Given the description of an element on the screen output the (x, y) to click on. 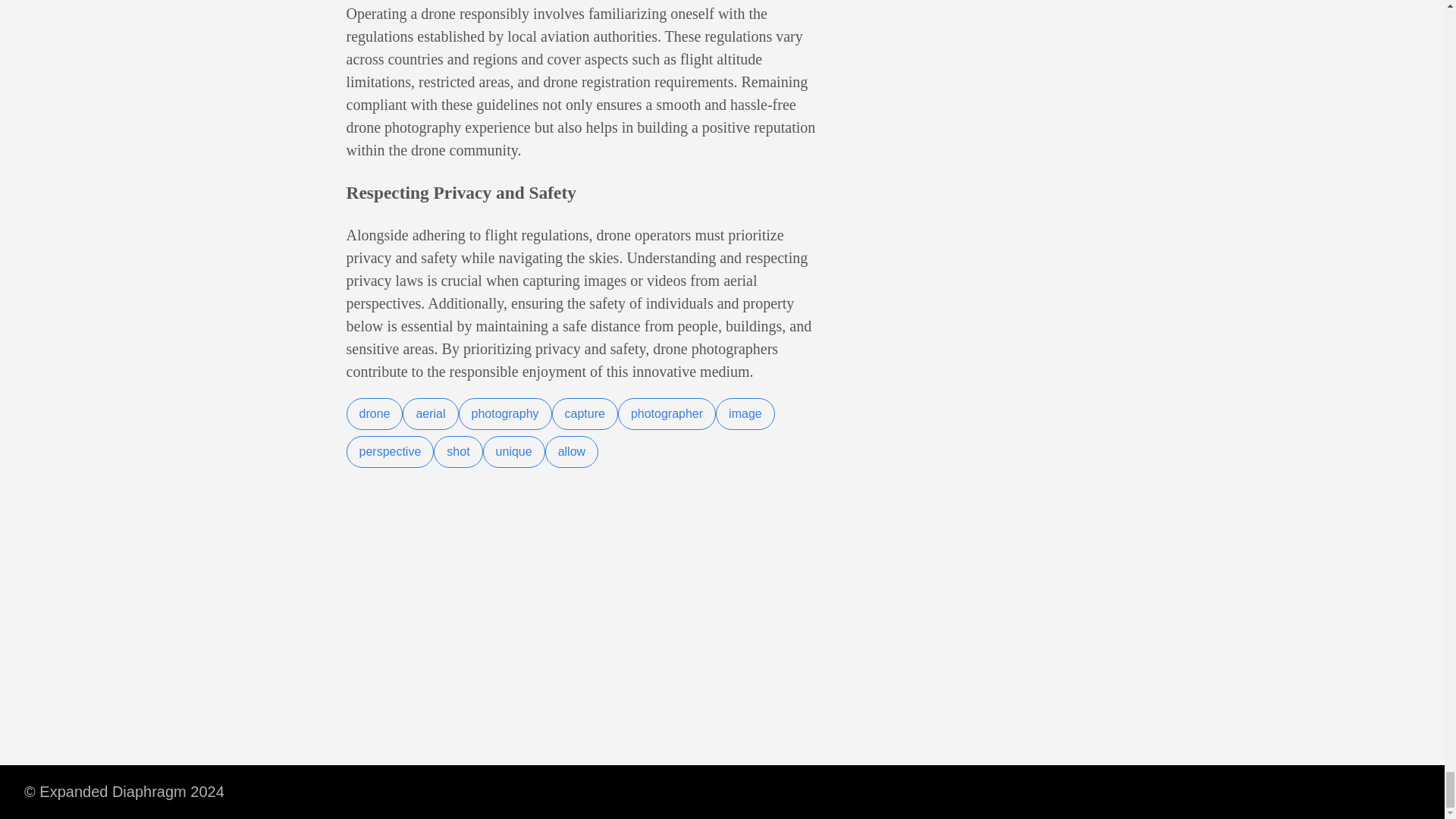
aerial (430, 413)
capture (584, 413)
photographer (666, 413)
photography (504, 413)
drone (374, 413)
